Given the description of an element on the screen output the (x, y) to click on. 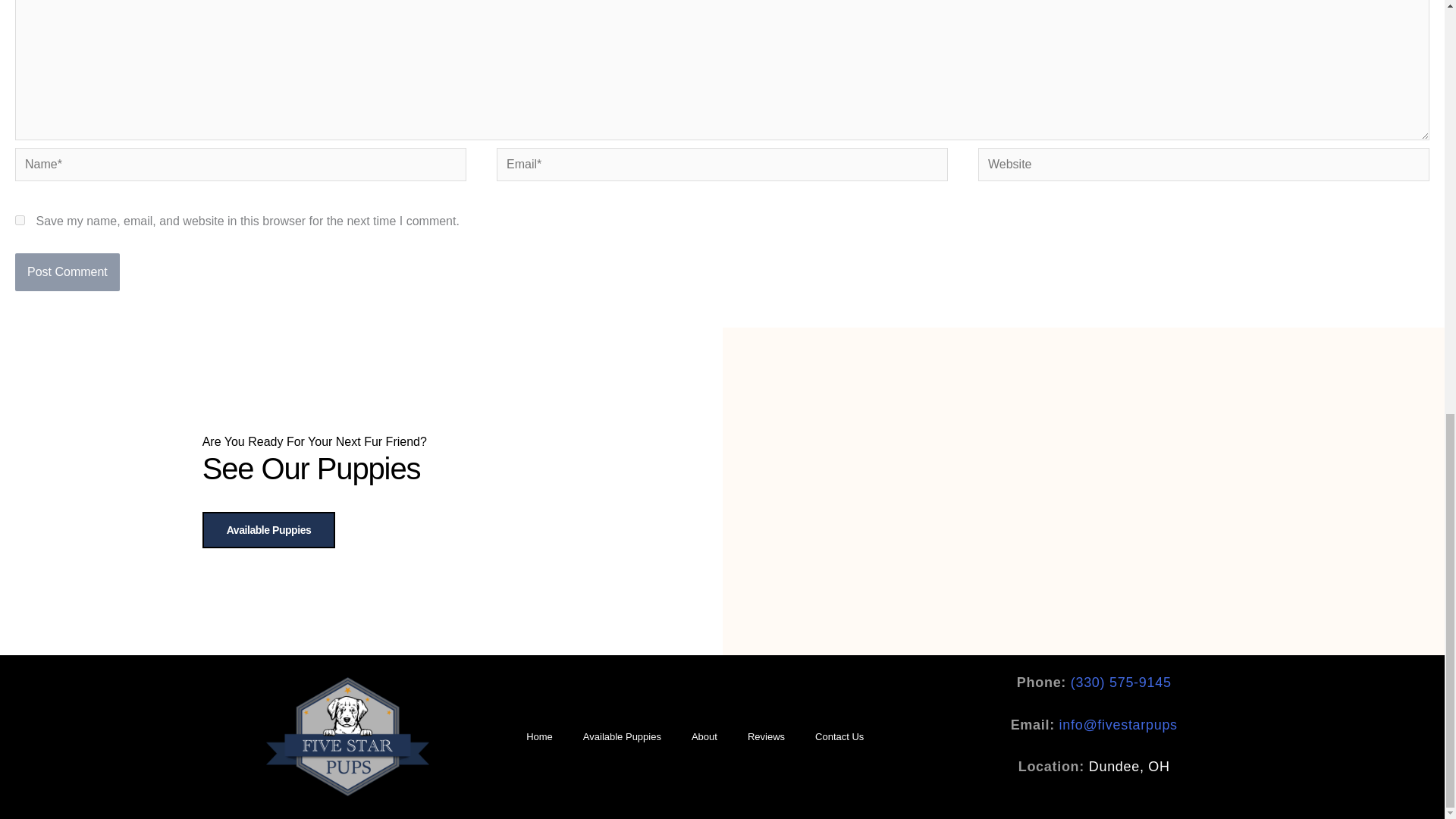
Reviews (765, 736)
Available Puppies (622, 736)
yes (19, 220)
Post Comment (66, 271)
Contact Us (839, 736)
About (704, 736)
Home (539, 736)
Available Puppies (269, 529)
Post Comment (66, 271)
